Given the description of an element on the screen output the (x, y) to click on. 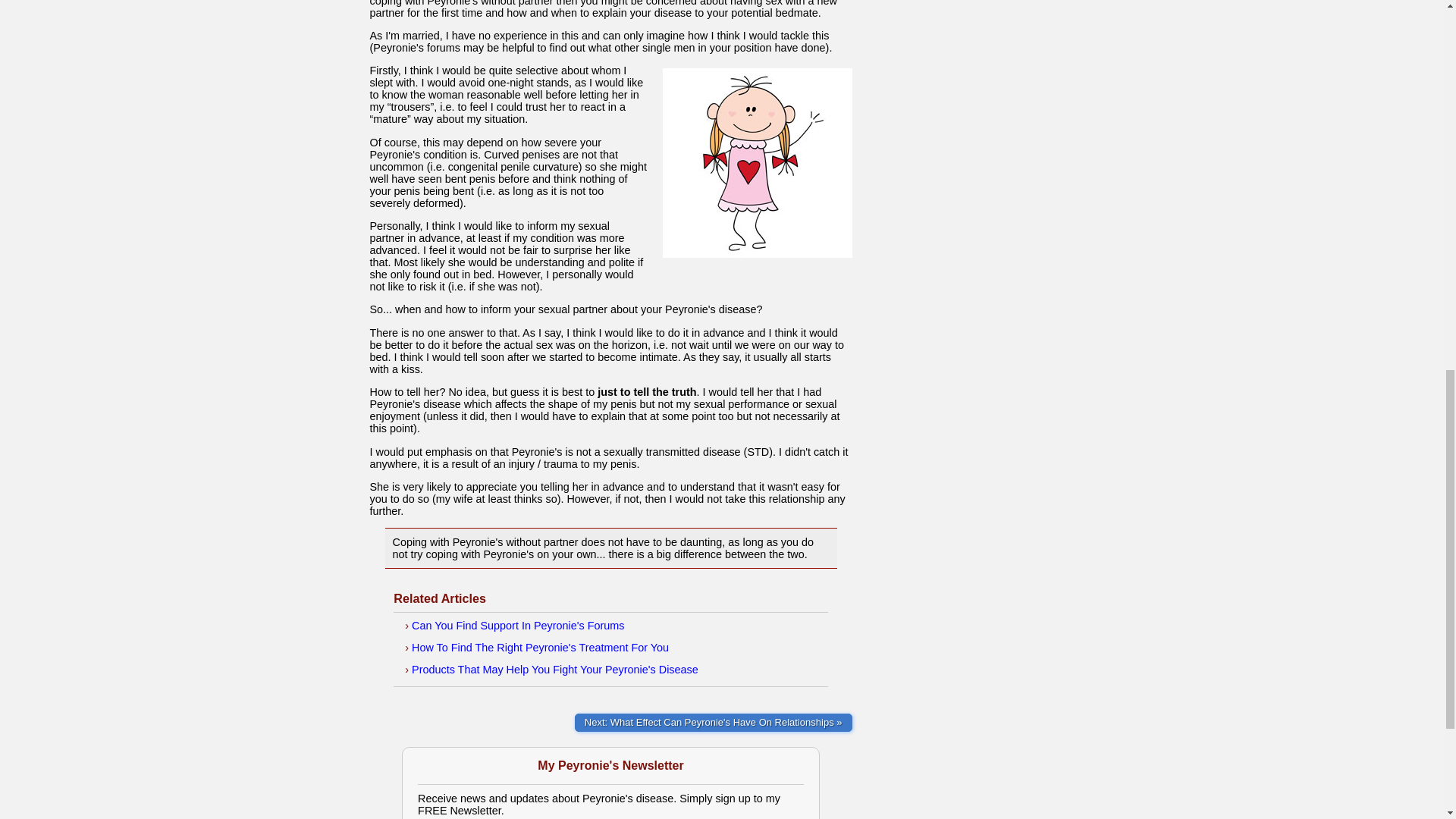
Products That May Help You Fight Your Peyronie'S Disease (555, 669)
Can You Find Support In Peyronie'S Forums (518, 625)
How to find the right treatment for you (540, 647)
How To Find The Right Peyronie'S Treatment For You (540, 647)
Good Peyronie's forums (518, 625)
Get through Peyronie's together (713, 722)
My reviews of Peyronie's products (555, 669)
